Given the description of an element on the screen output the (x, y) to click on. 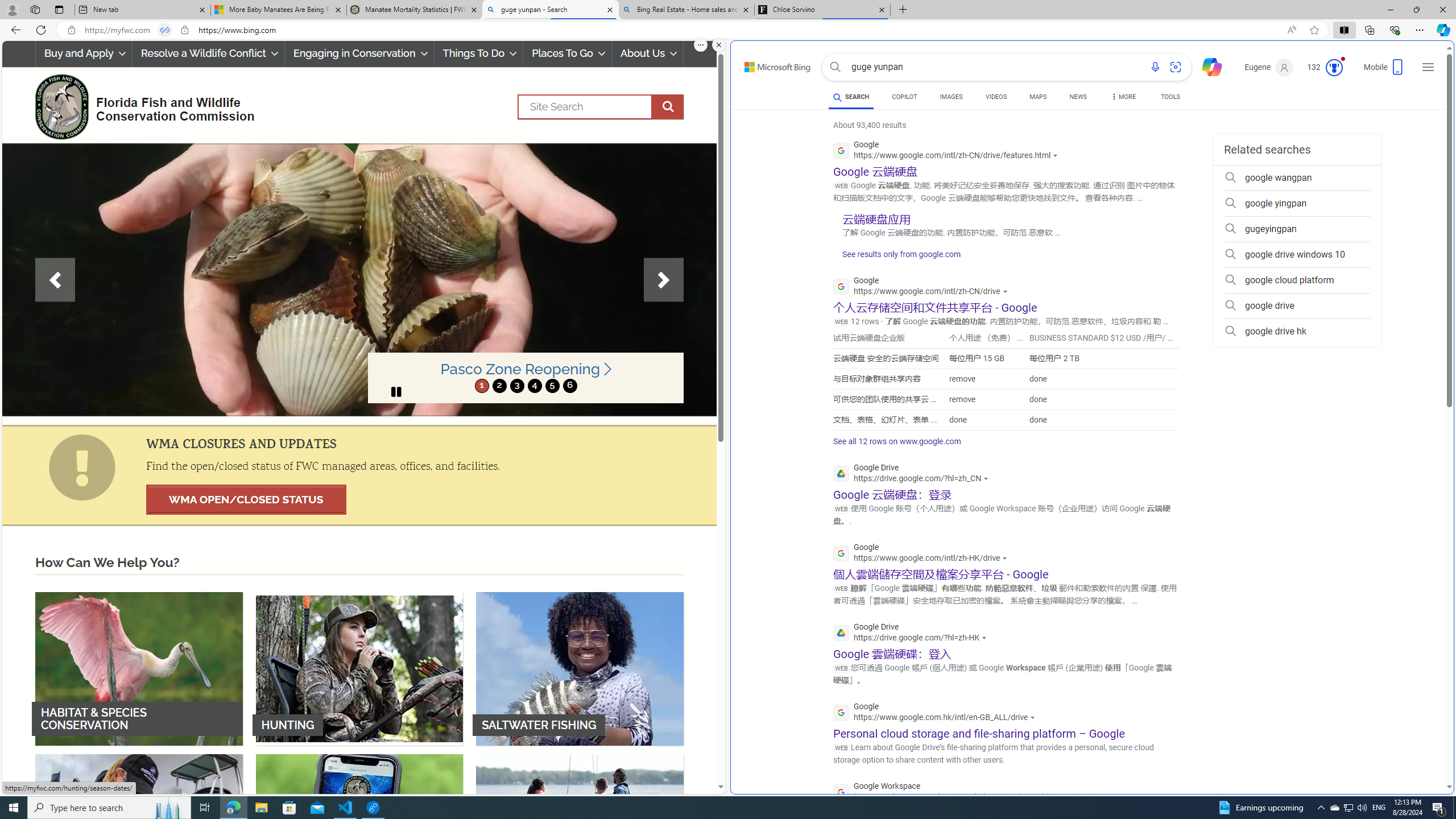
Next (663, 279)
6 (569, 385)
IMAGES (950, 96)
New tab (142, 9)
move to slide 6 (569, 385)
Settings and quick links (1428, 67)
Microsoft Rewards 123 (1325, 67)
WMA OPEN/CLOSED STATUS (245, 499)
FWC Logo (61, 106)
NEWS (1078, 98)
